Given the description of an element on the screen output the (x, y) to click on. 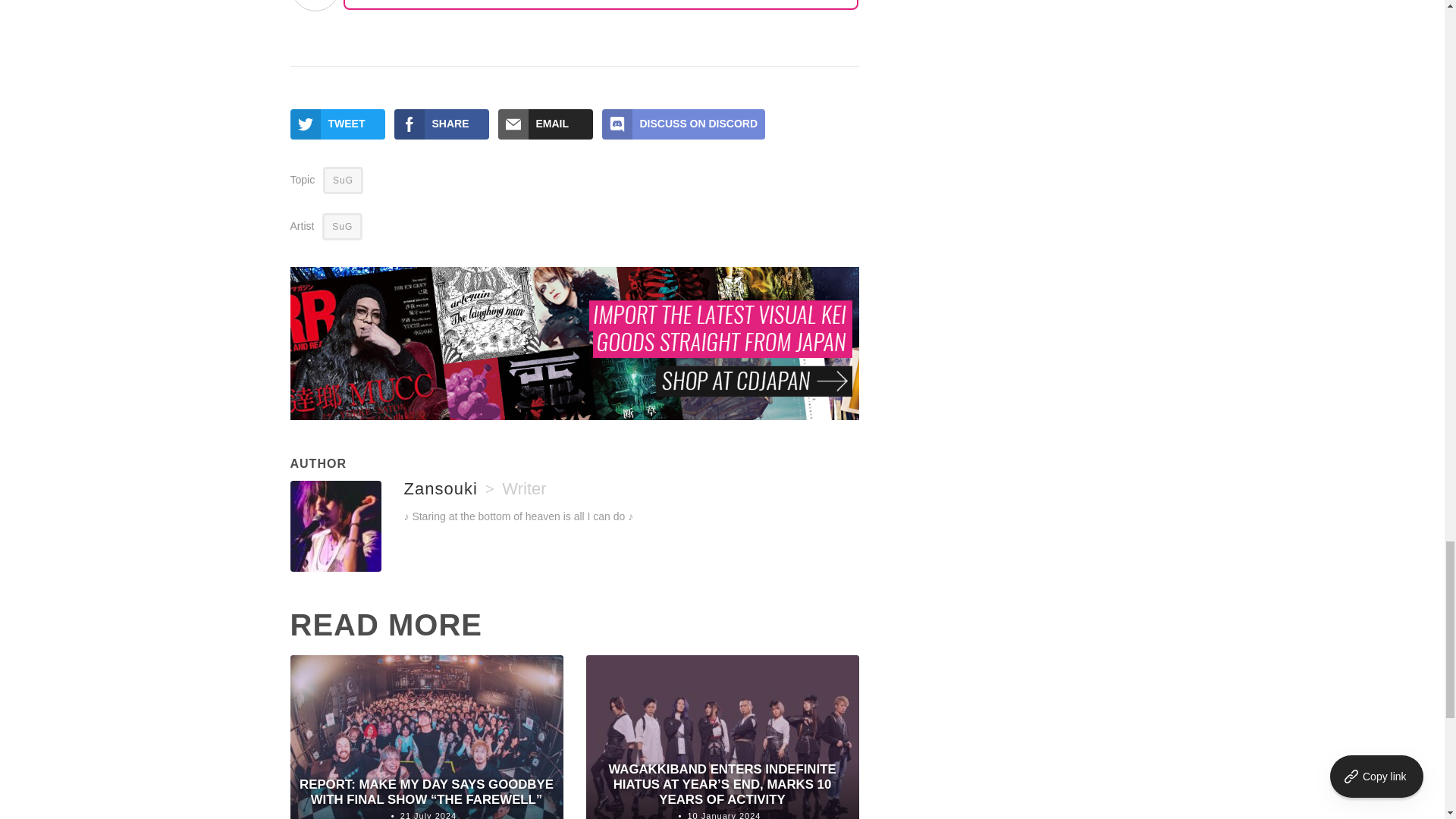
Discuss on discord (683, 124)
Share on Facebook (441, 124)
Tweet it (336, 124)
Share via e-mail (544, 124)
